Given the description of an element on the screen output the (x, y) to click on. 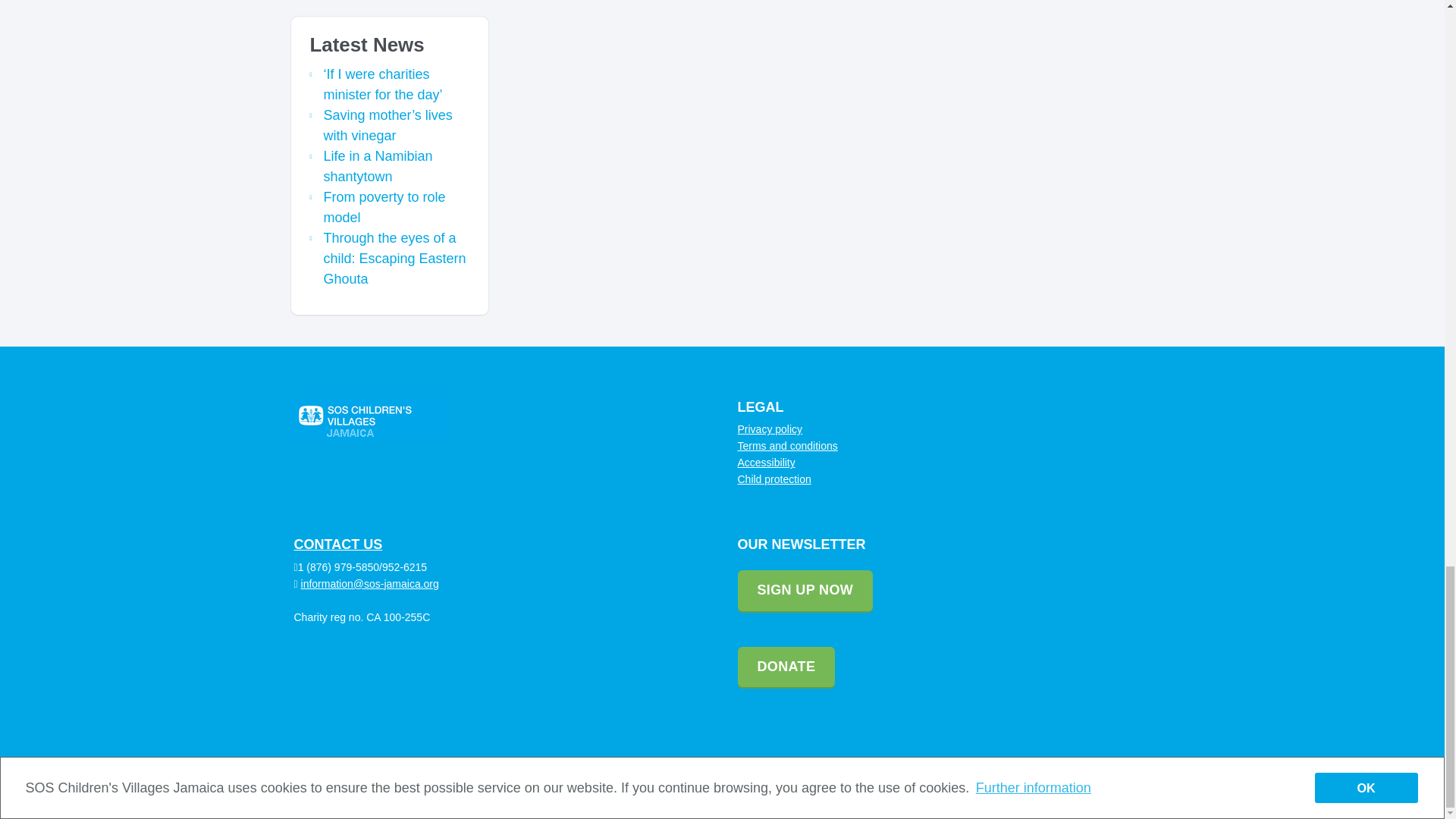
Accessibility (765, 462)
SIGN UP NOW (804, 591)
Terms and conditions (786, 445)
DONATE (785, 668)
CONTACT US (338, 544)
Through the eyes of a child: Escaping Eastern Ghouta (394, 258)
Life in a Namibian shantytown (377, 166)
Child protection (773, 479)
Home (961, 787)
From poverty to role model (384, 207)
Press office (1023, 787)
Privacy policy (769, 428)
